Given the description of an element on the screen output the (x, y) to click on. 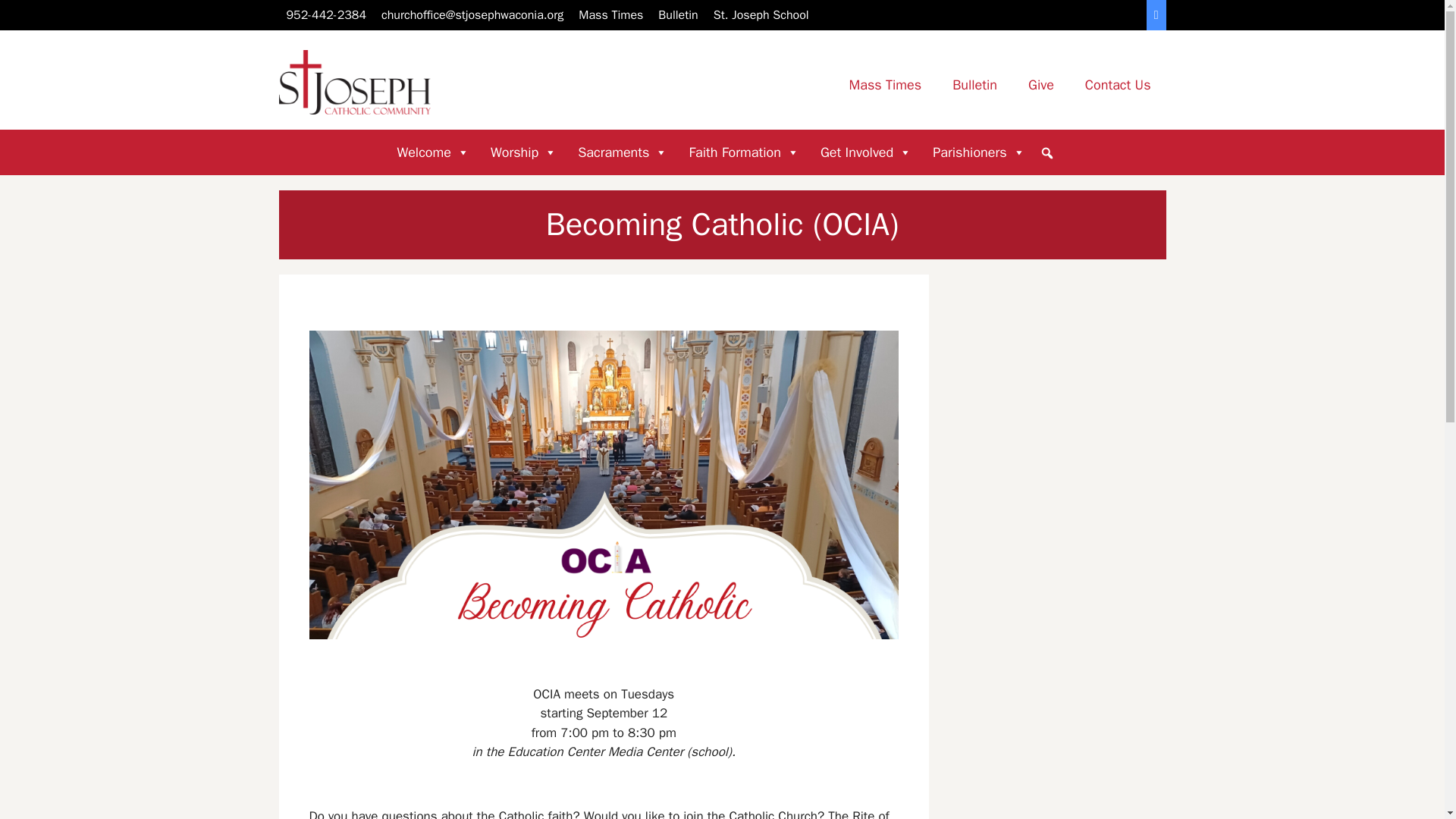
Contact Us (1118, 84)
Faith Formation (743, 152)
Sacraments (622, 152)
Welcome (432, 152)
Mass Times (884, 84)
Worship (523, 152)
St. Joseph School (761, 15)
Mass Times (610, 15)
Give (1040, 84)
952-442-2384 (326, 15)
